Given the description of an element on the screen output the (x, y) to click on. 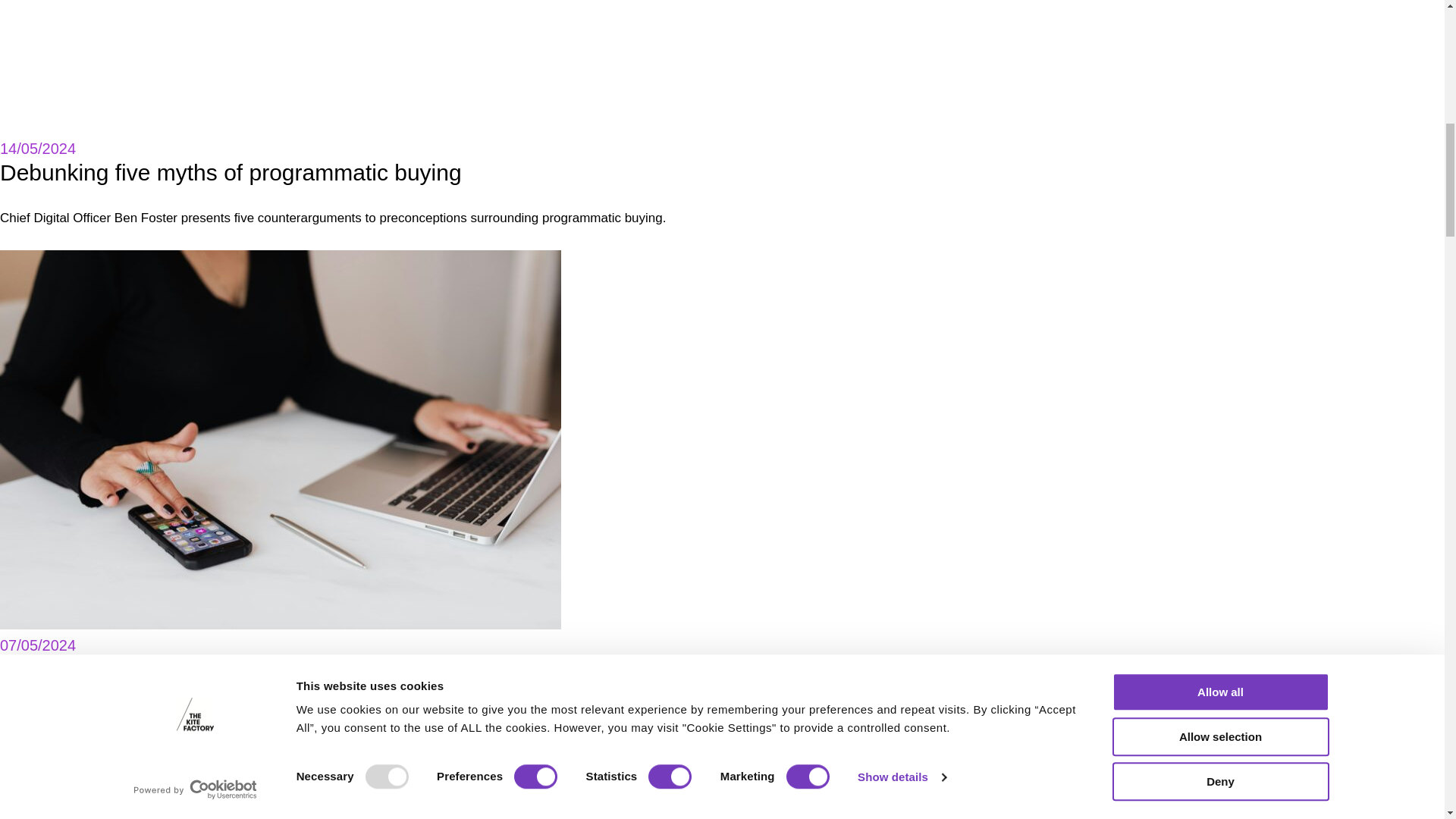
Permalink to Debunking five myths of programmatic buying (230, 172)
Permalink to Debunking five myths of programmatic buying (280, 66)
